Given the description of an element on the screen output the (x, y) to click on. 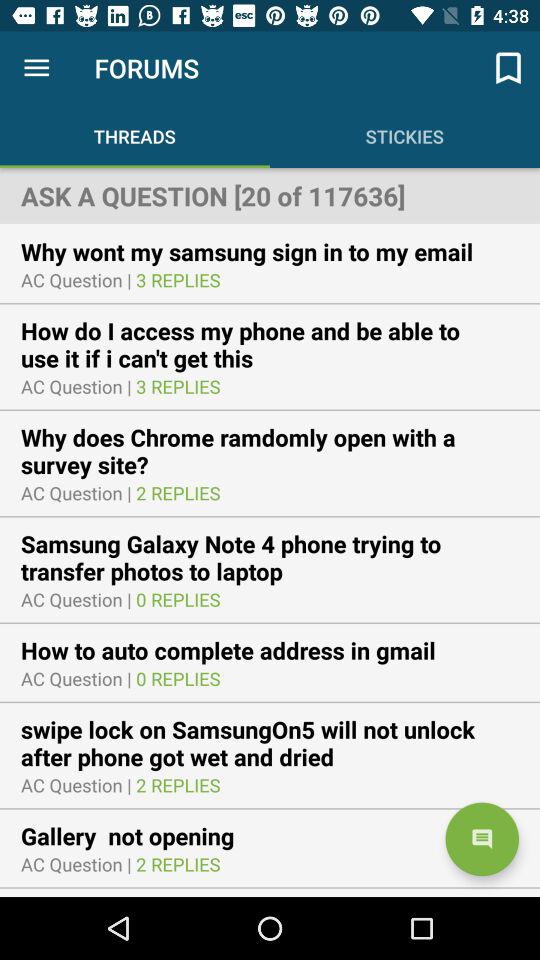
turn off item below ask a question (260, 251)
